Given the description of an element on the screen output the (x, y) to click on. 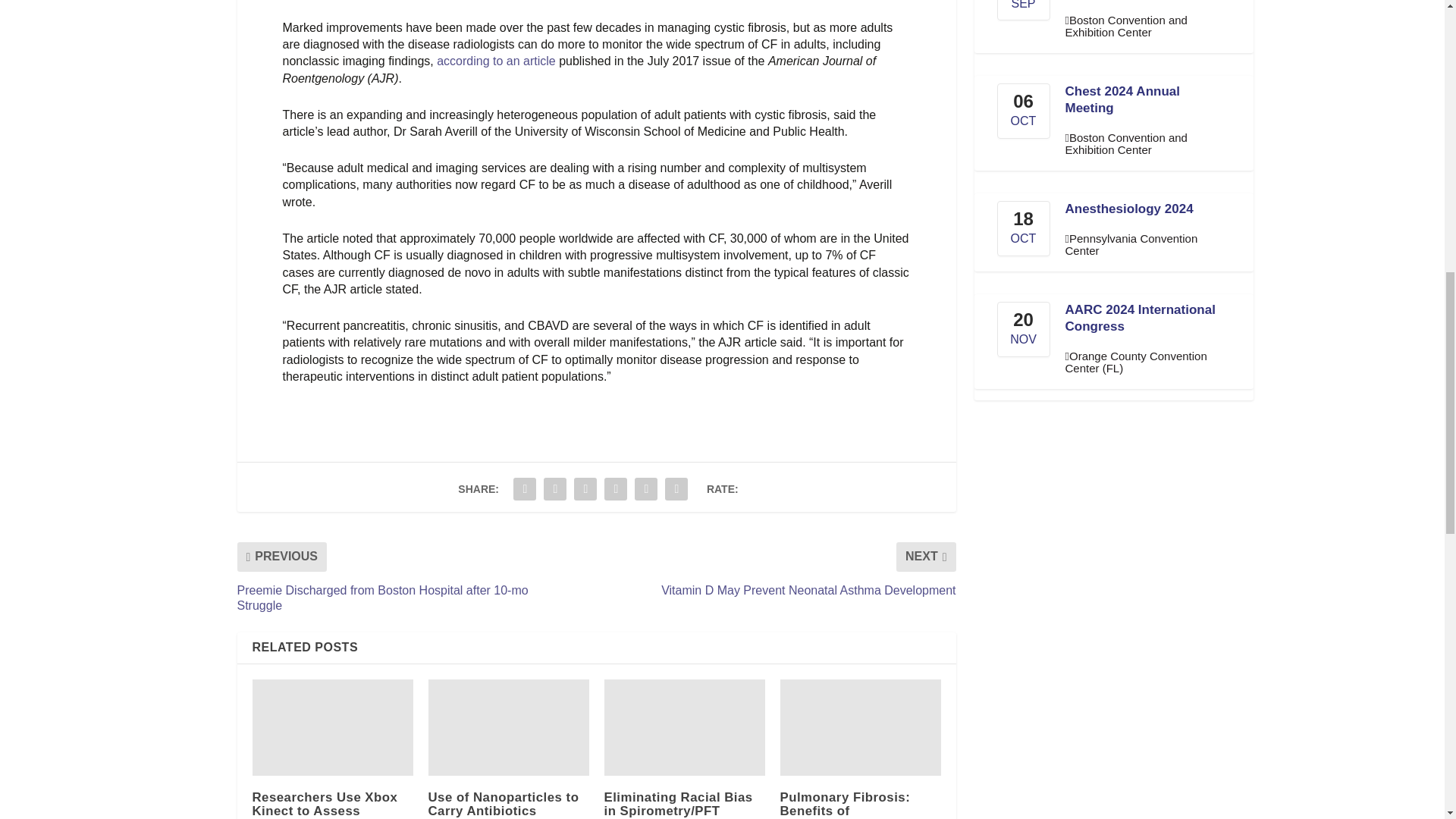
according to an article (496, 60)
Inhaled Mannitol Helpful for Those With Cystic Fibrosis (859, 727)
Spirometry Screening for COPD? Maybe Not (508, 727)
